Given the description of an element on the screen output the (x, y) to click on. 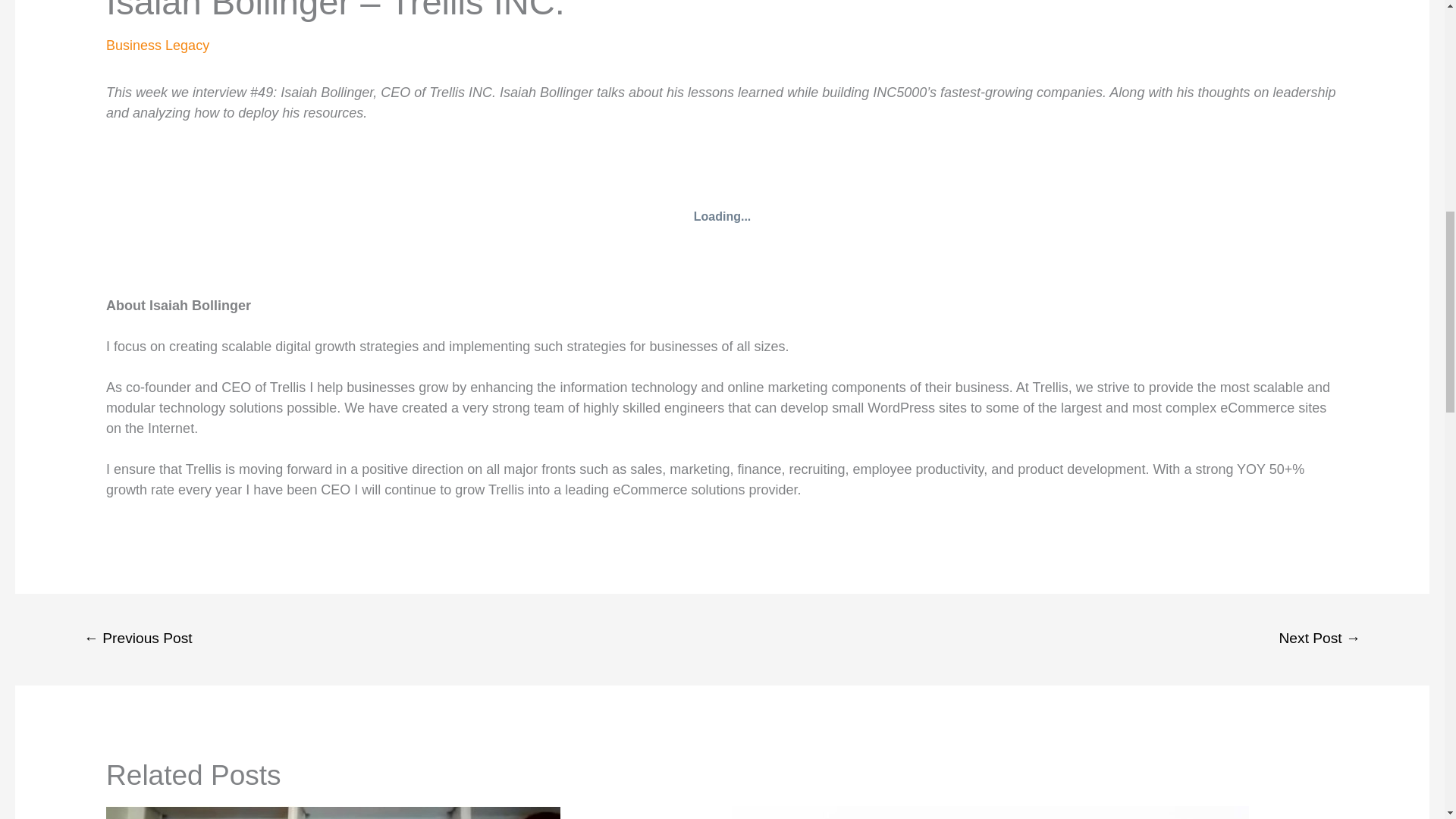
Business Legacy (157, 45)
